Given the description of an element on the screen output the (x, y) to click on. 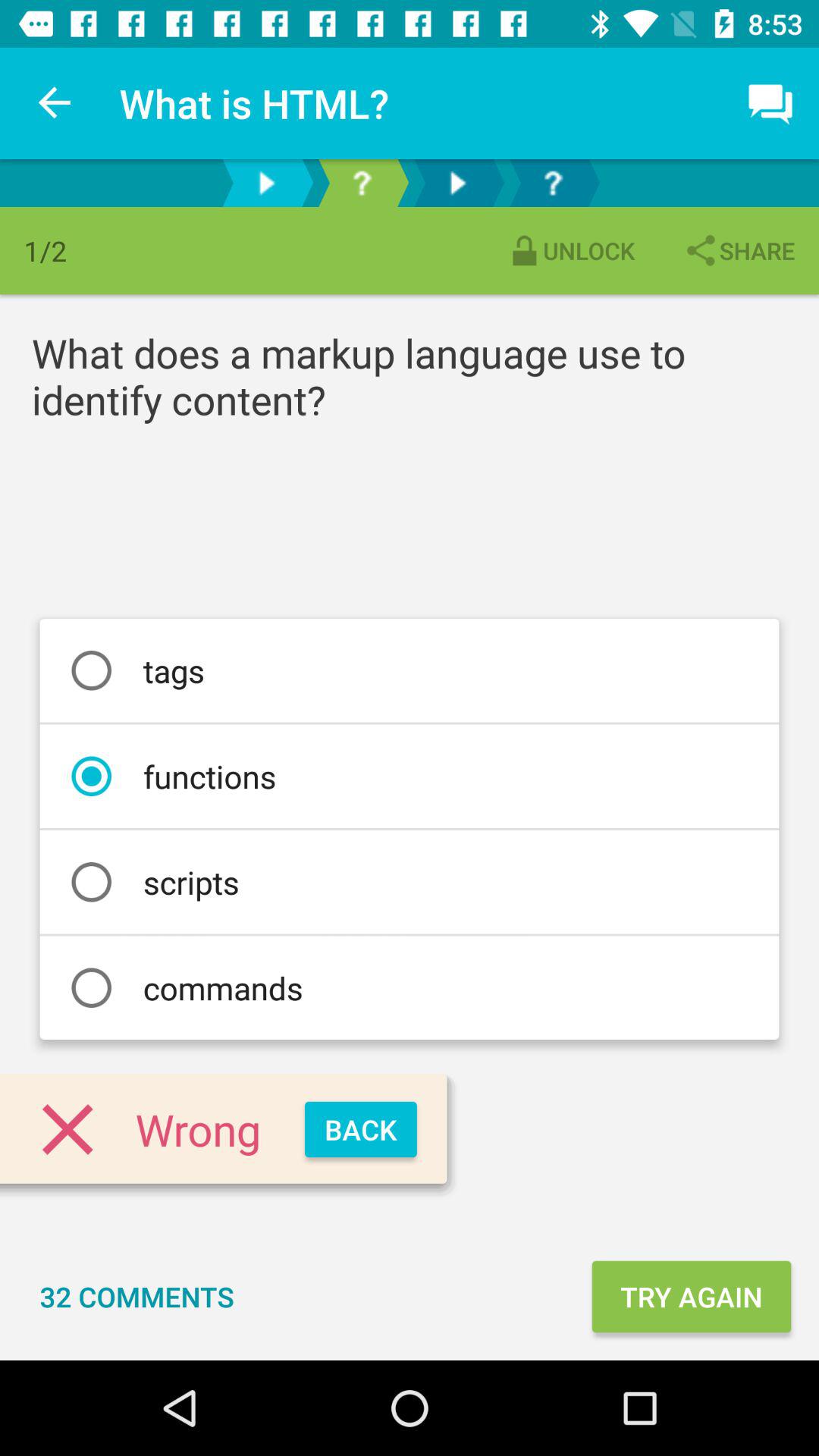
tap item next to the unlock (738, 250)
